Given the description of an element on the screen output the (x, y) to click on. 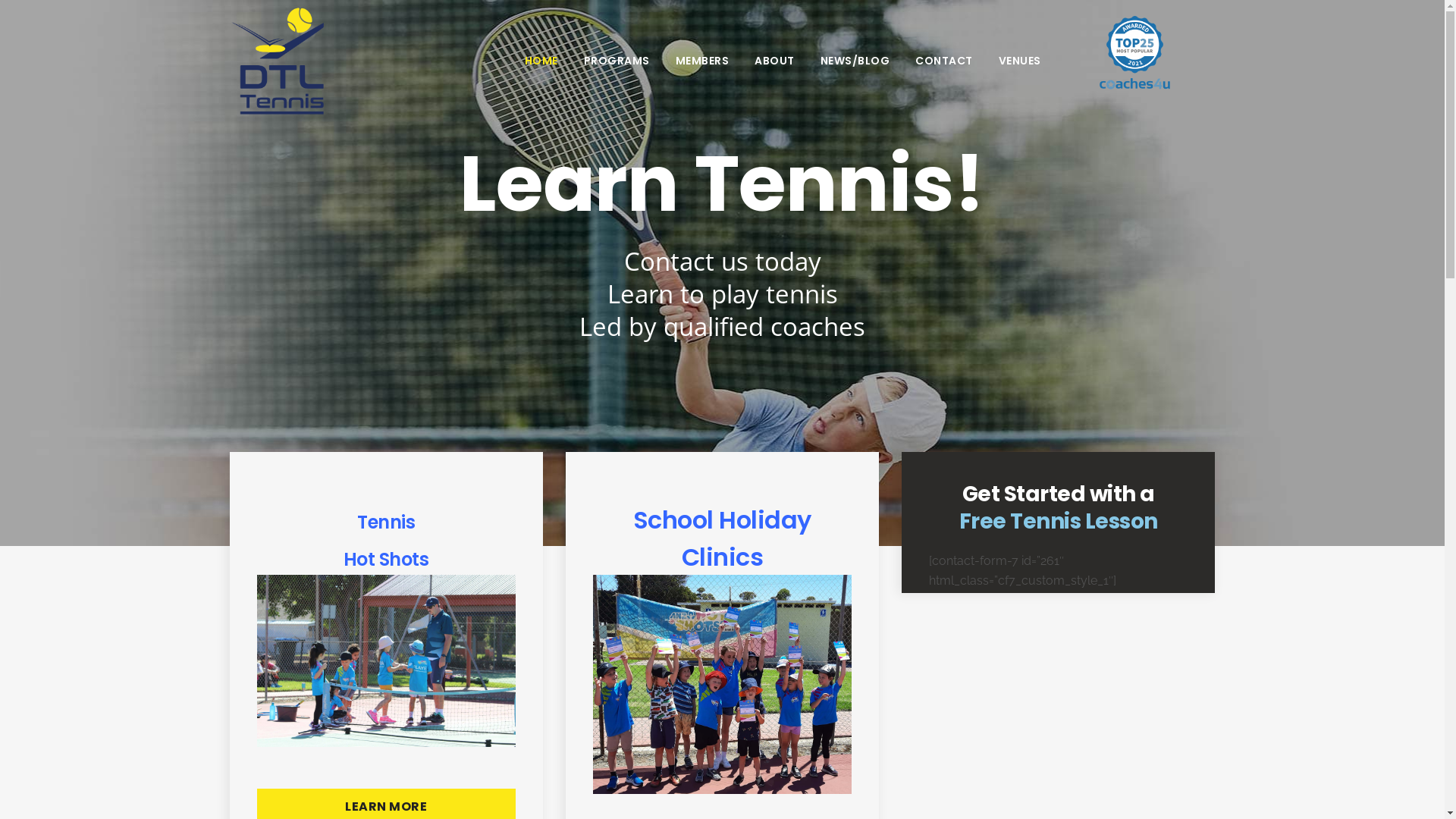
MEMBERS Element type: text (702, 60)
NEWS/BLOG Element type: text (854, 60)
Hot Shots Element type: text (386, 558)
ABOUT Element type: text (774, 60)
CONTACT Element type: text (943, 60)
VENUES Element type: text (1019, 60)
PROGRAMS Element type: text (616, 60)
Tennis Element type: text (385, 521)
HOME Element type: text (540, 60)
